Given the description of an element on the screen output the (x, y) to click on. 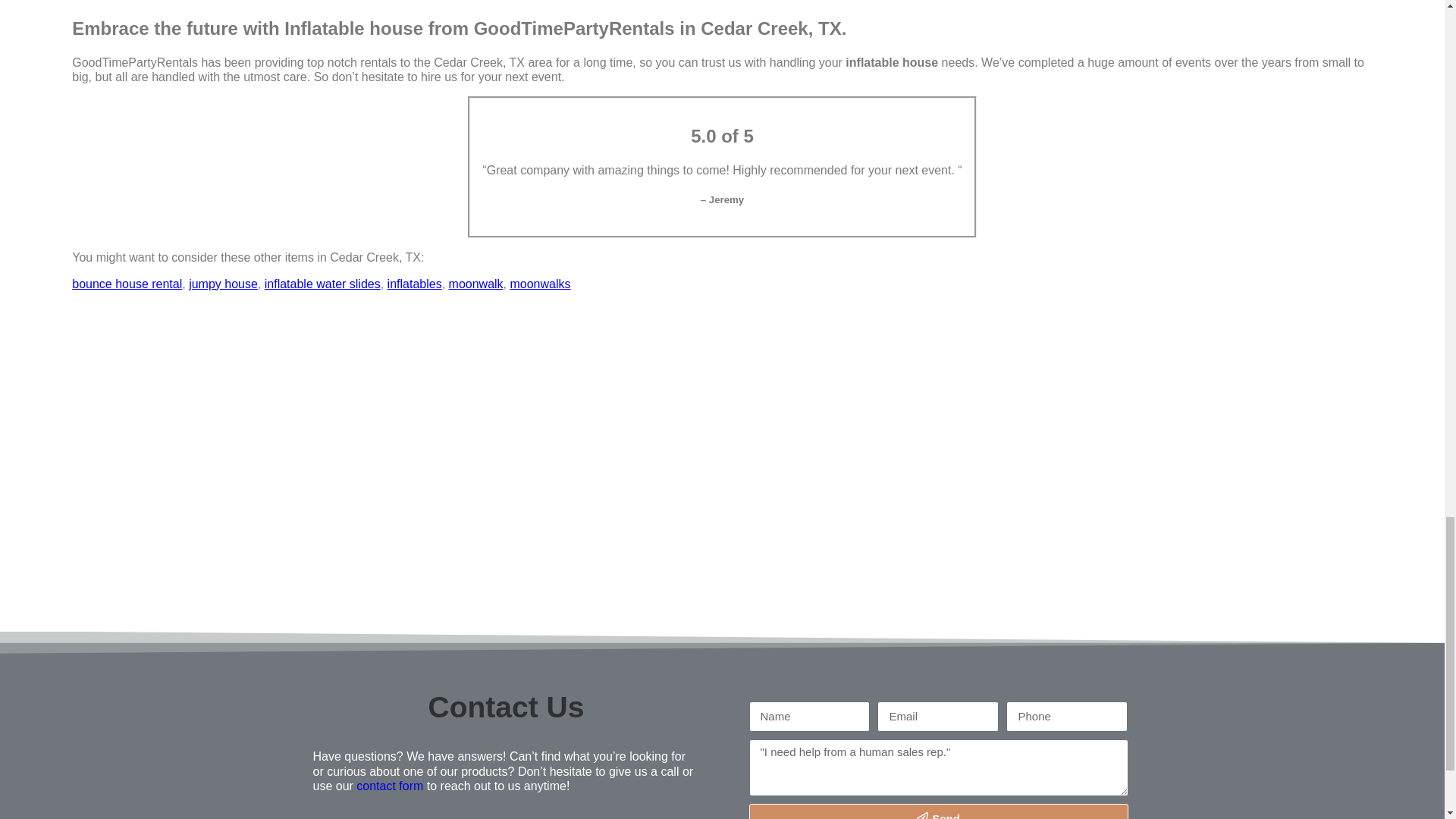
contact form (389, 785)
inflatables (414, 283)
Send (938, 811)
bounce house rental (126, 283)
moonwalks (539, 283)
jumpy house (223, 283)
moonwalk (475, 283)
inflatable water slides (322, 283)
